Given the description of an element on the screen output the (x, y) to click on. 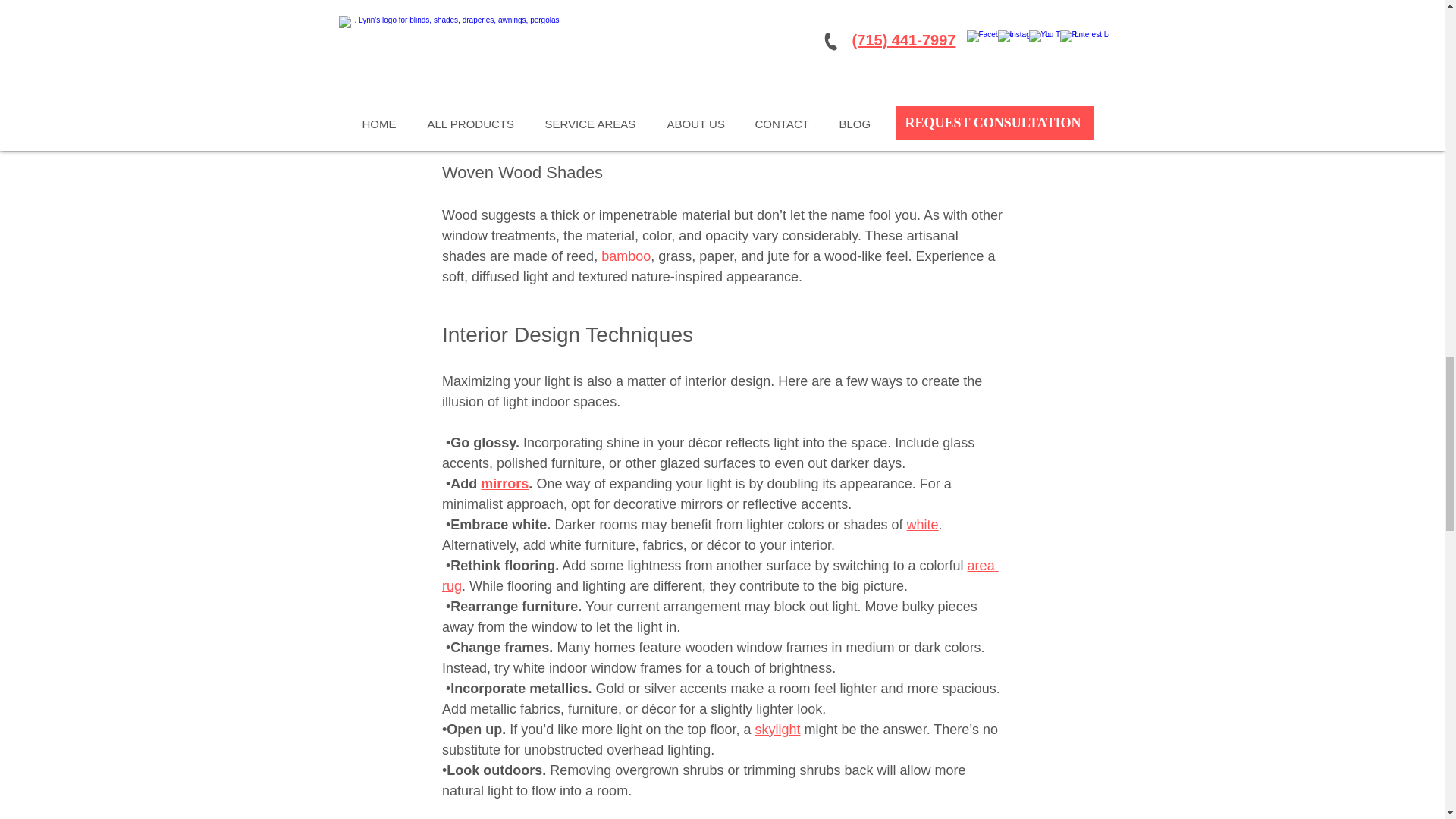
white (921, 524)
zebra shades (593, 67)
mirrors (504, 483)
bamboo (625, 255)
